Given the description of an element on the screen output the (x, y) to click on. 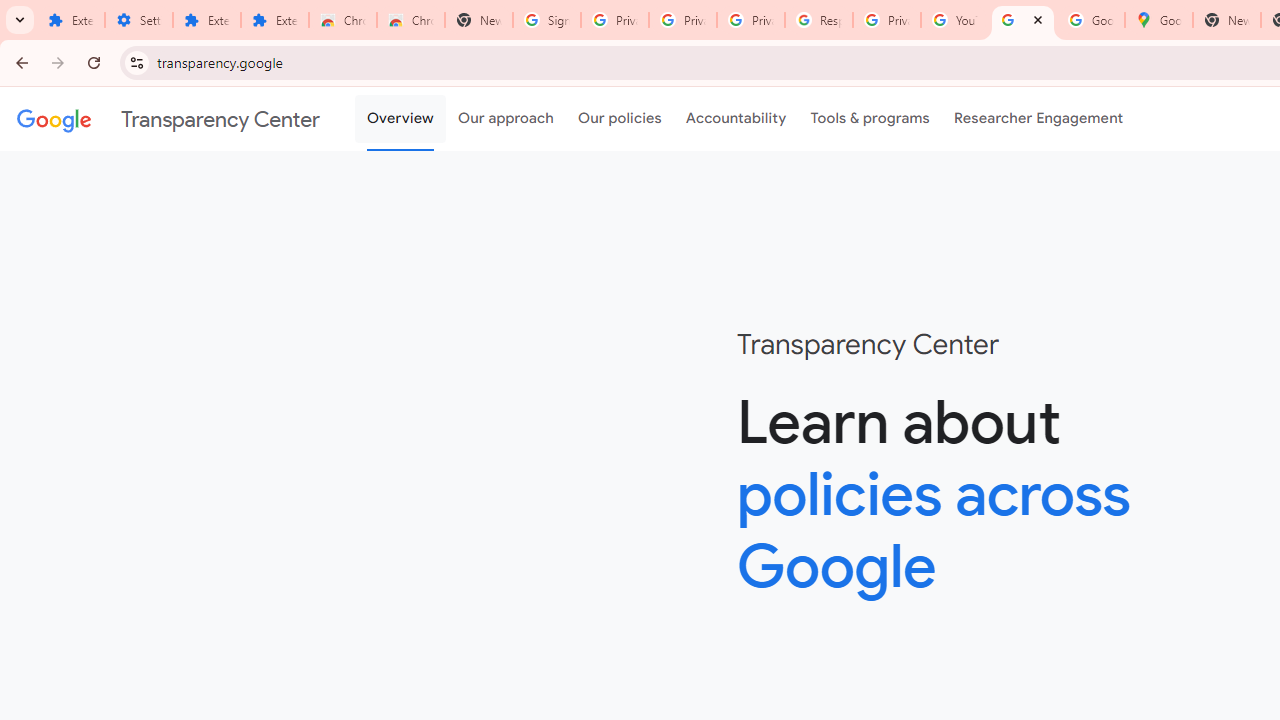
Extensions (70, 20)
YouTube (954, 20)
Chrome Web Store (342, 20)
Our approach (506, 119)
Our policies (619, 119)
New Tab (479, 20)
